Given the description of an element on the screen output the (x, y) to click on. 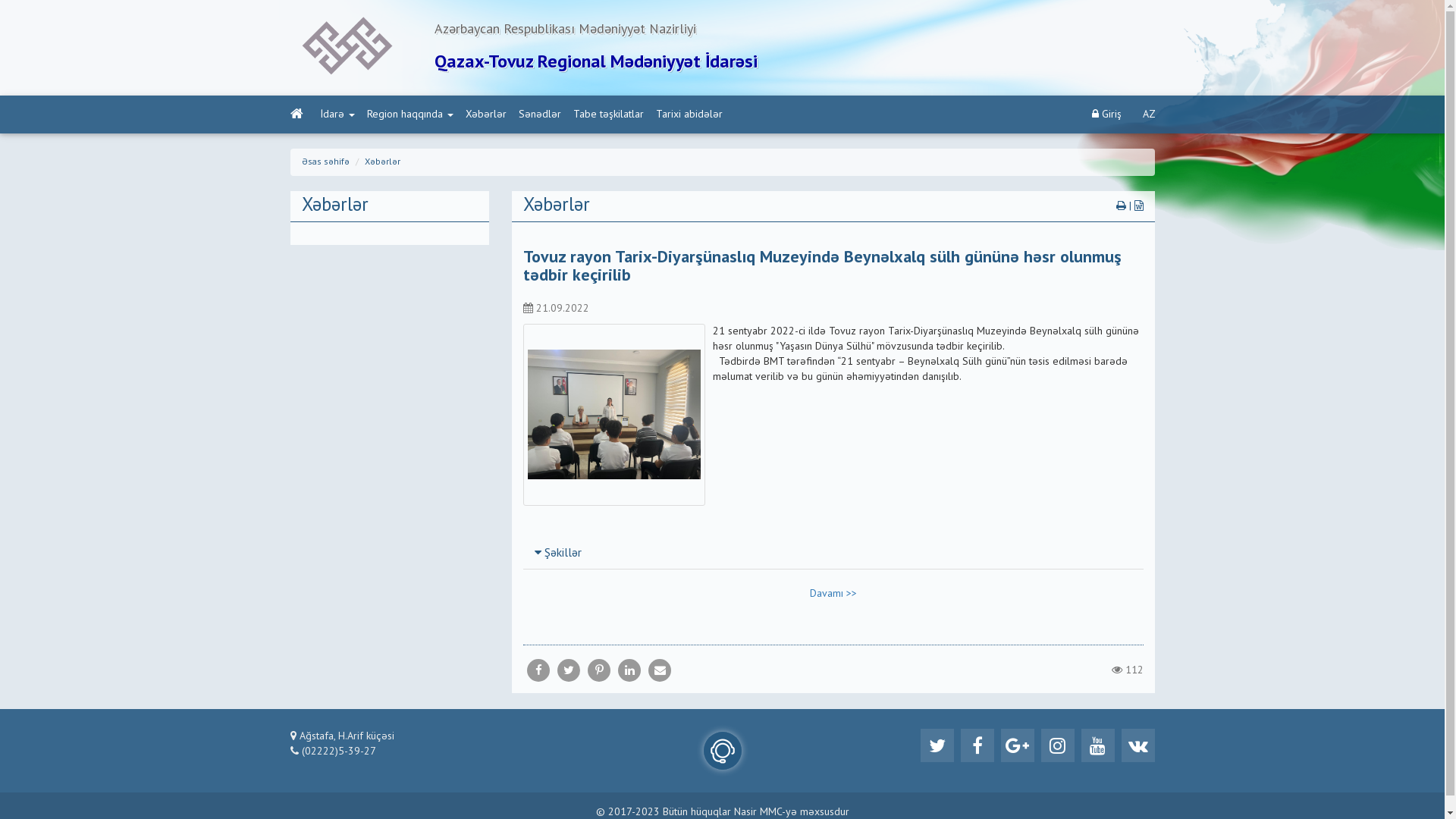
AZ Element type: text (1148, 114)
